Given the description of an element on the screen output the (x, y) to click on. 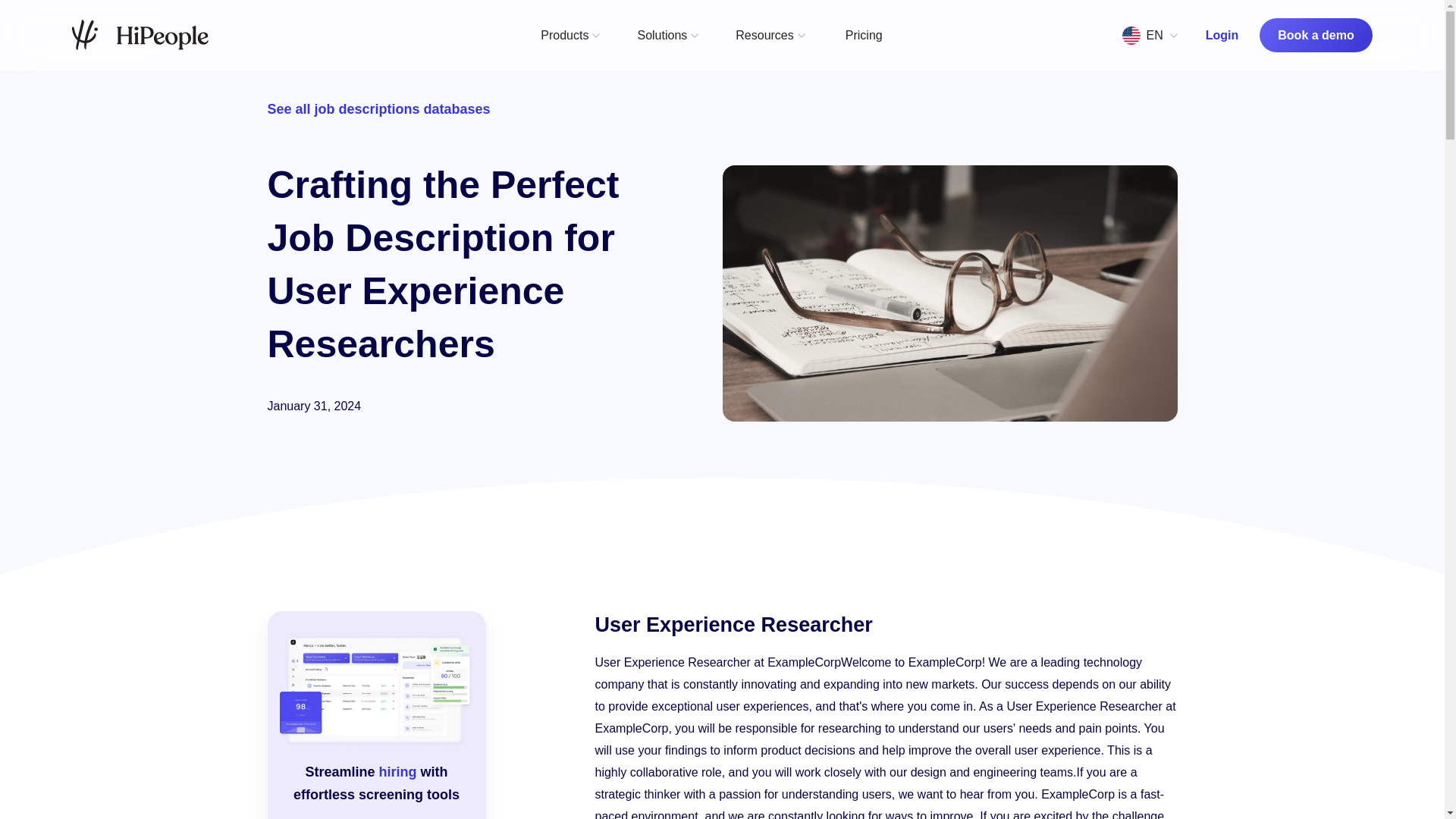
Pricing (863, 35)
